Given the description of an element on the screen output the (x, y) to click on. 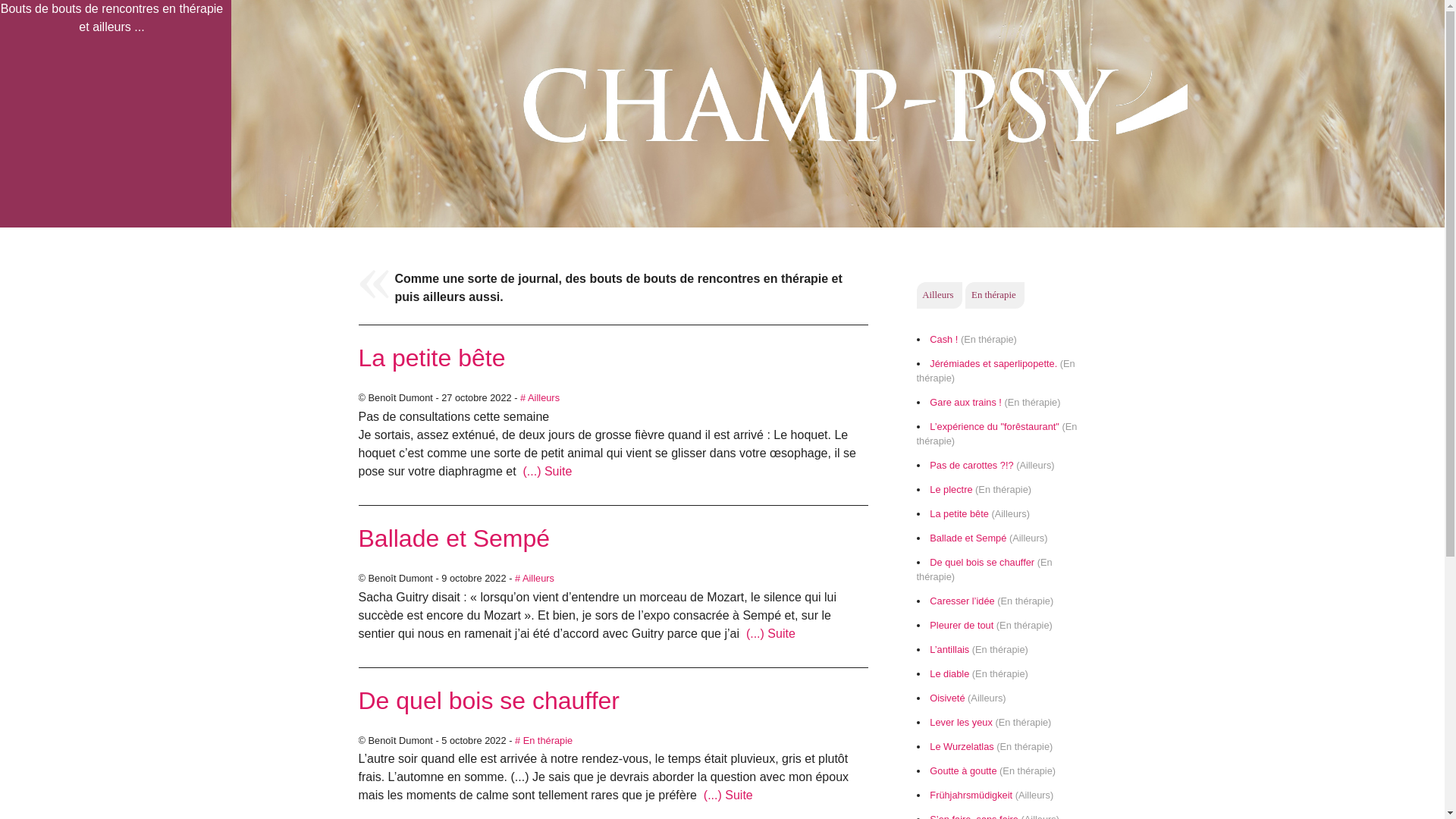
Lever les yeux Element type: text (960, 722)
 (...) Suite Element type: text (768, 633)
Pas de carottes ?!? Element type: text (971, 464)
Ailleurs Element type: text (939, 293)
Pleurer de tout Element type: text (961, 624)
# Ailleurs Element type: text (539, 397)
 (...) Suite Element type: text (545, 470)
Le Wurzelatlas Element type: text (961, 746)
Le plectre Element type: text (950, 489)
Le diable Element type: text (949, 673)
De quel bois se chauffer Element type: text (981, 561)
# Ailleurs Element type: text (534, 577)
Cash ! Element type: text (943, 339)
Gare aux trains ! Element type: text (965, 401)
 (...) Suite Element type: text (725, 794)
De quel bois se chauffer Element type: text (488, 700)
